Given the description of an element on the screen output the (x, y) to click on. 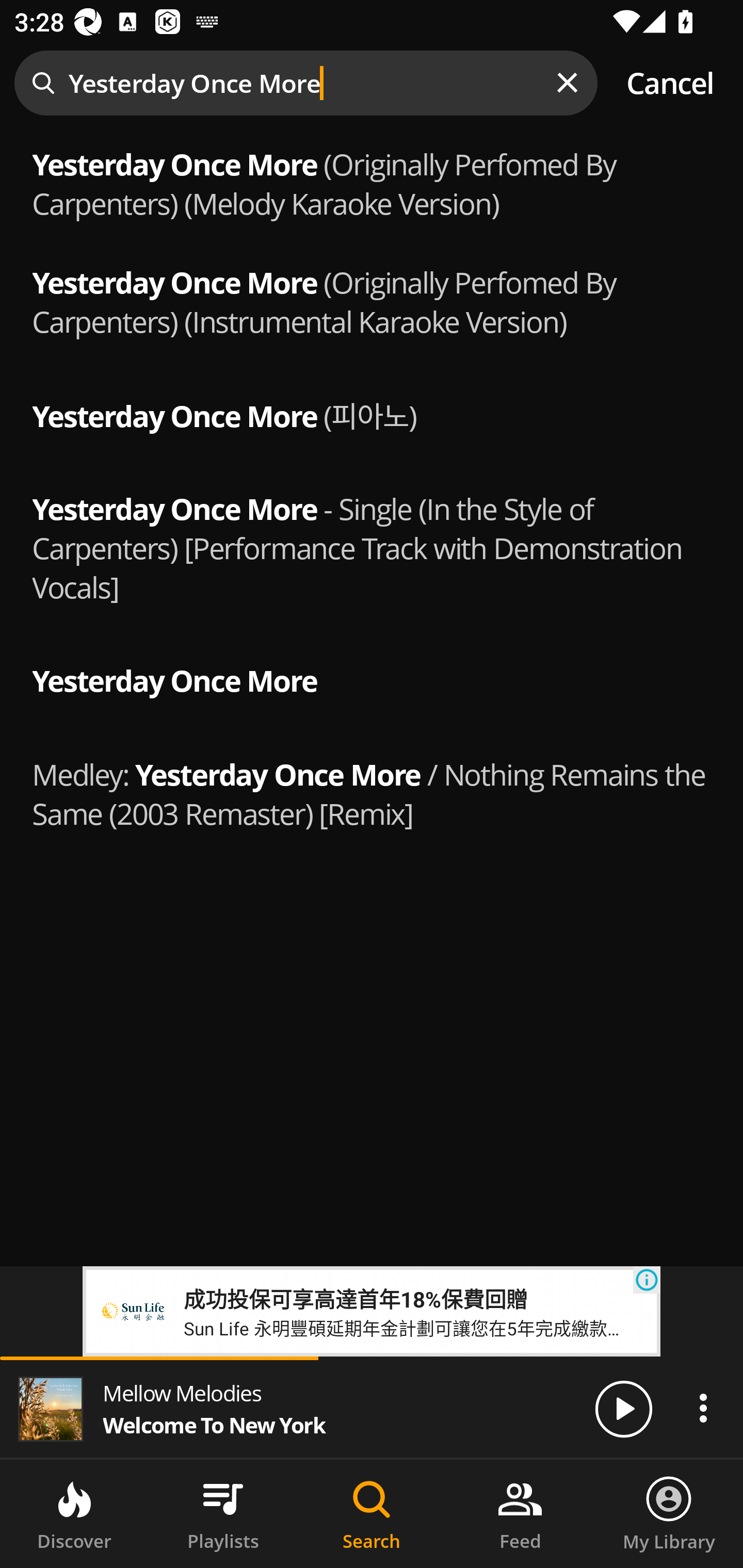
Yesterday Once More Cancel (371, 82)
Cancel (670, 82)
Yesterday Once More (피아노) (371, 413)
Yesterday Once More (371, 678)
Ad Choices Icon (646, 1279)
成功投保可享高達首年18%保費回贈 (355, 1297)
Sun Life 永明豐碩延期年金計劃可讓您在5年完成繳款，更可申請扣稅，助您獲得穩定退休入息。 (408, 1326)
Actions (703, 1407)
Play/Pause (623, 1408)
Discover (74, 1513)
Playlists (222, 1513)
Search (371, 1513)
Feed (519, 1513)
My Library (668, 1513)
